Given the description of an element on the screen output the (x, y) to click on. 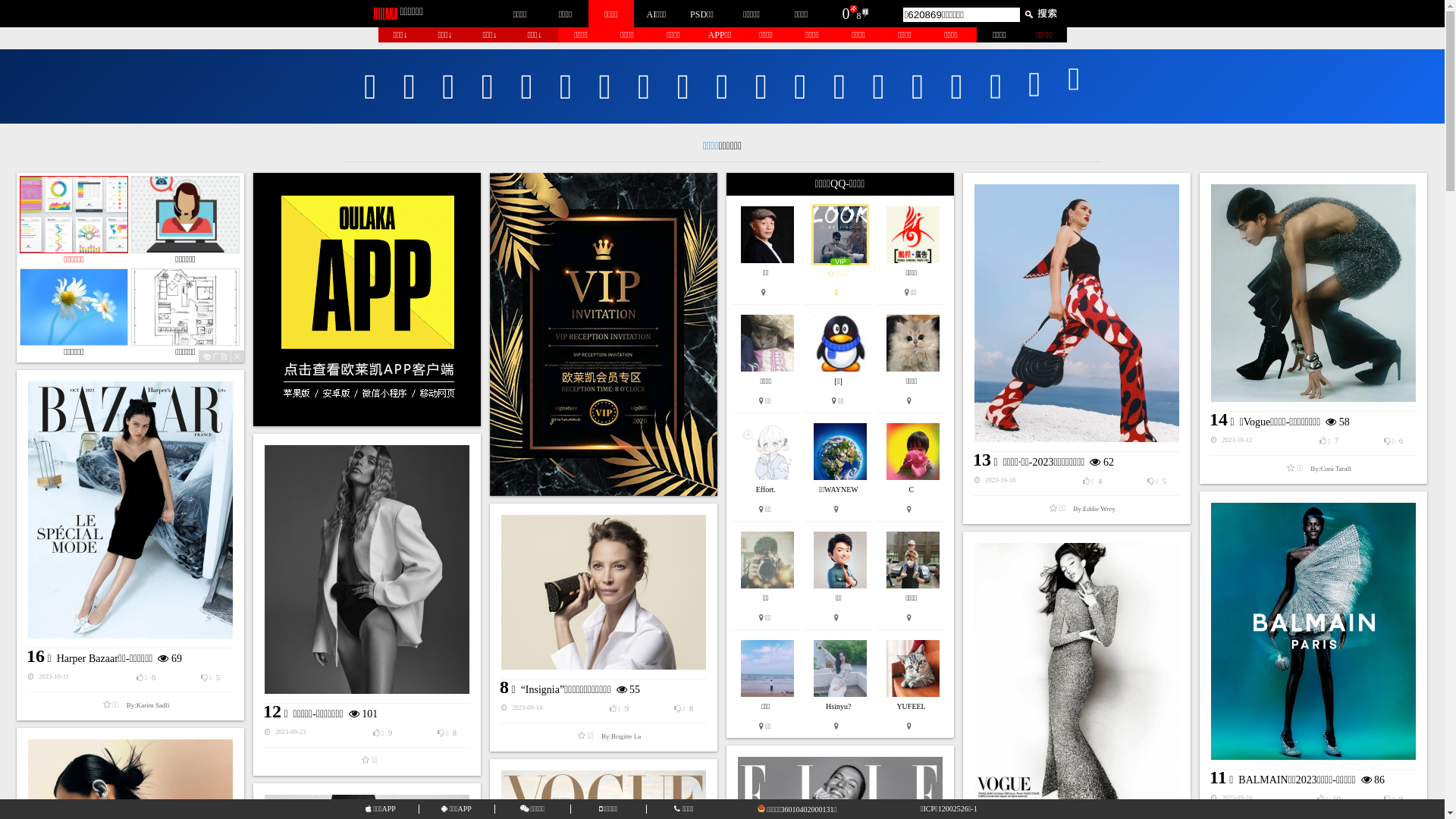
0 Element type: text (845, 13)
8 Element type: text (858, 15)
